Given the description of an element on the screen output the (x, y) to click on. 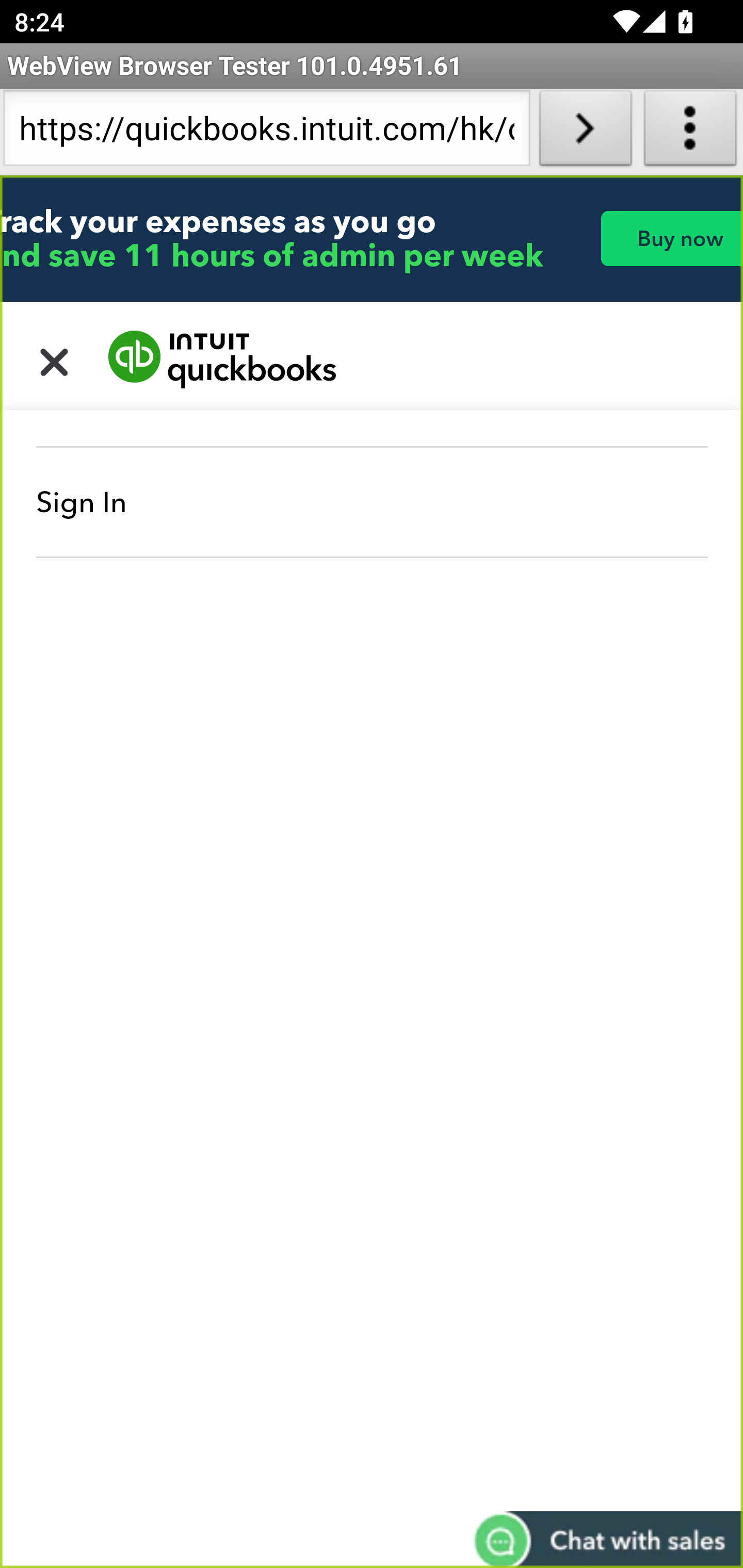
Load URL (585, 132)
About WebView (690, 132)
Buy now (671, 238)
quickbooks-mobile-burger (54, 359)
quickbooks (222, 359)
Sign In (372, 502)
